Given the description of an element on the screen output the (x, y) to click on. 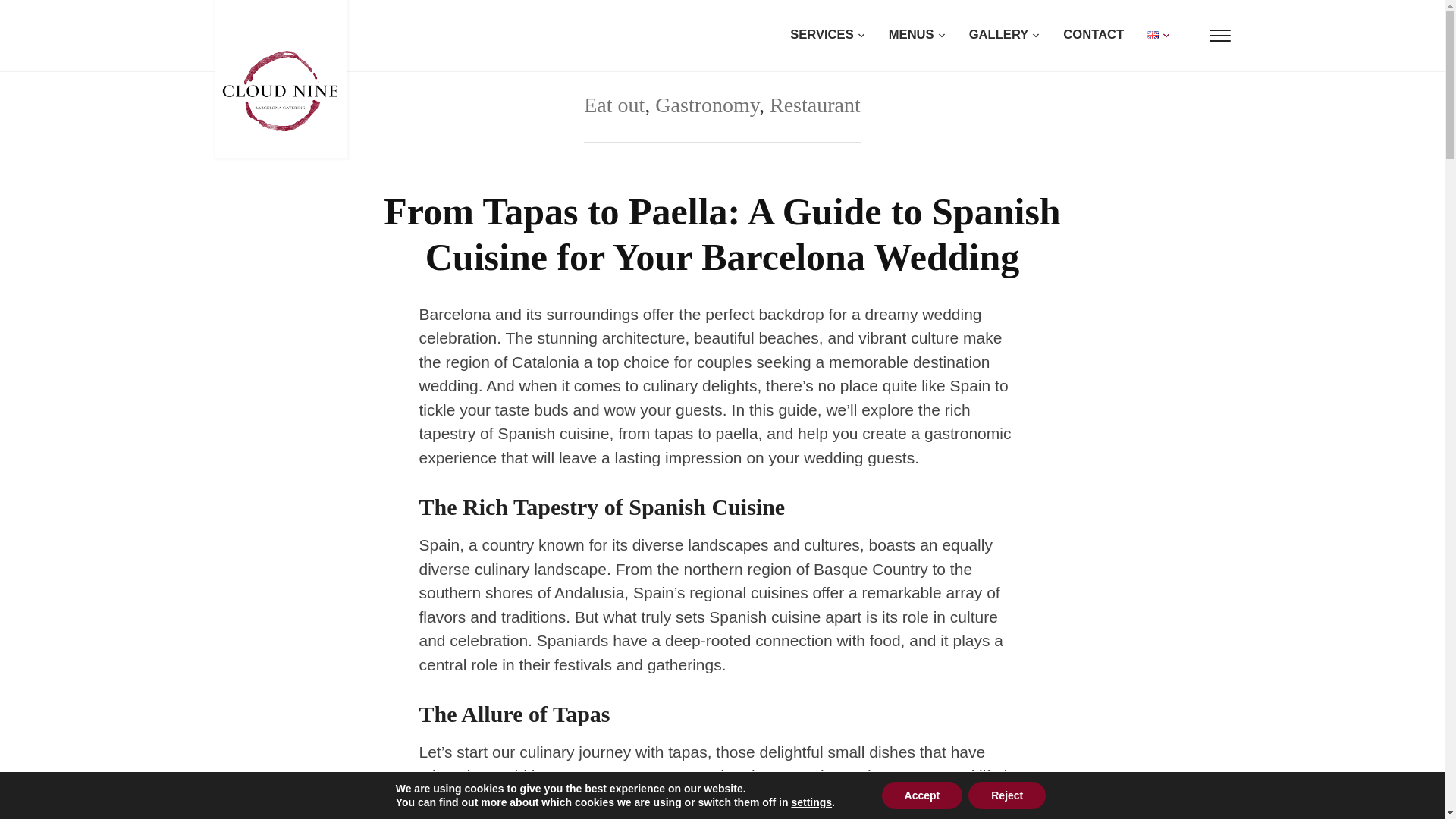
Gastronomy (706, 105)
Restaurant (815, 105)
SERVICES (816, 39)
MENUS (906, 39)
CONTACT (1082, 39)
Eat out (614, 105)
English (1152, 35)
GALLERY (993, 39)
